Given the description of an element on the screen output the (x, y) to click on. 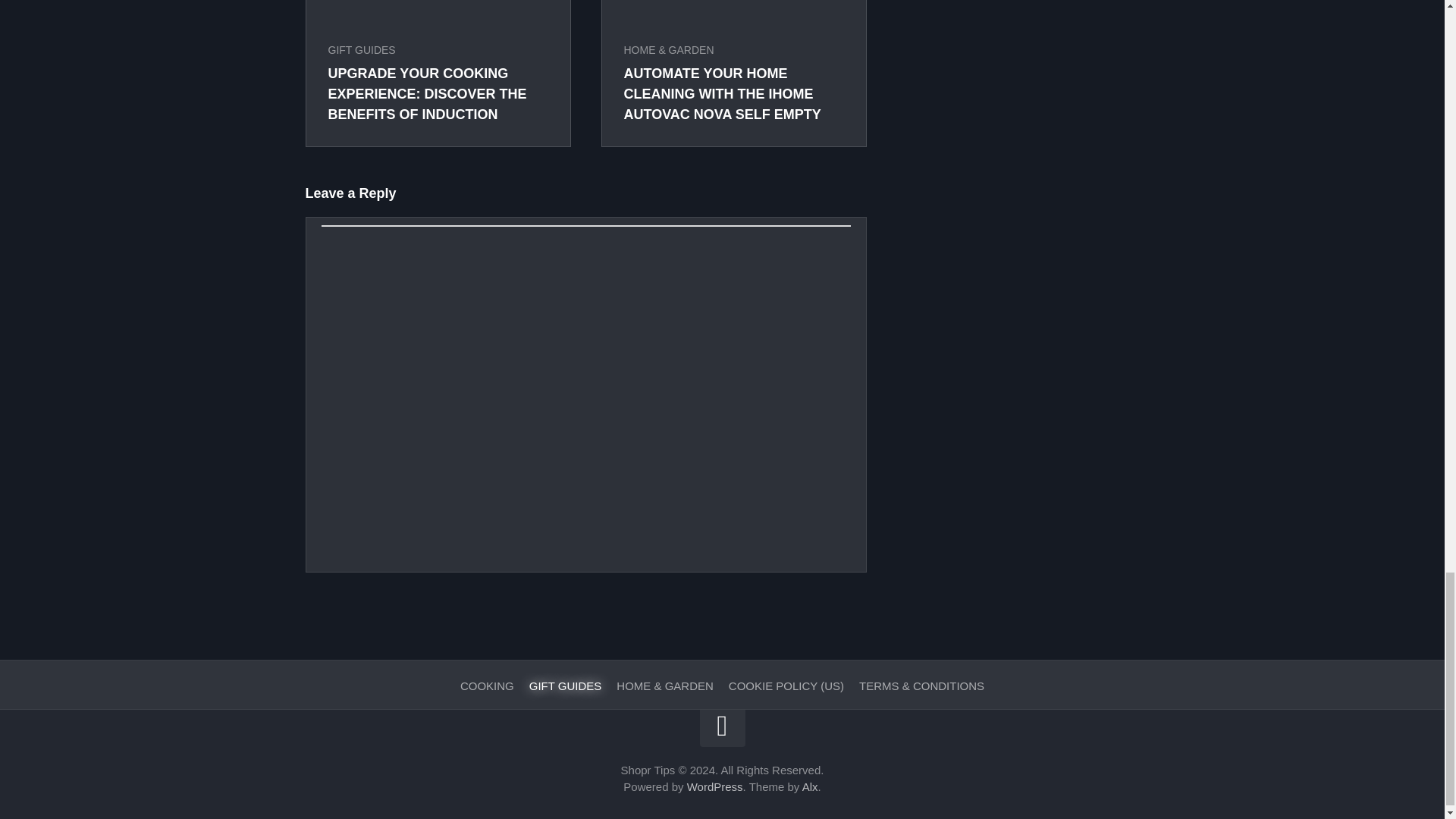
GIFT GUIDES (360, 50)
